Given the description of an element on the screen output the (x, y) to click on. 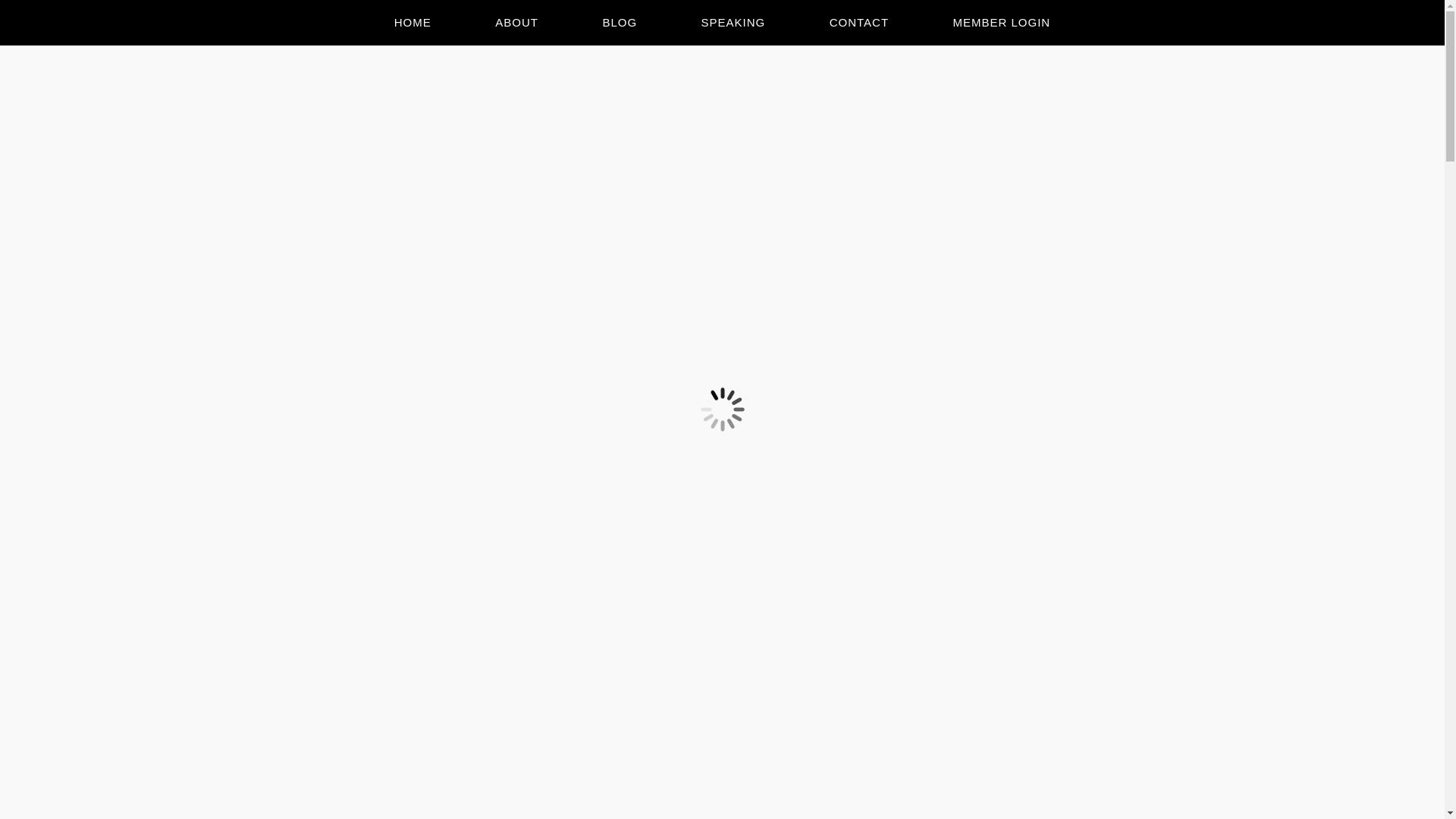
HOME (412, 22)
SPEAKING (733, 22)
CONTACT (858, 22)
BLOG (619, 22)
ABOUT (516, 22)
MEMBER LOGIN (1002, 22)
